Given the description of an element on the screen output the (x, y) to click on. 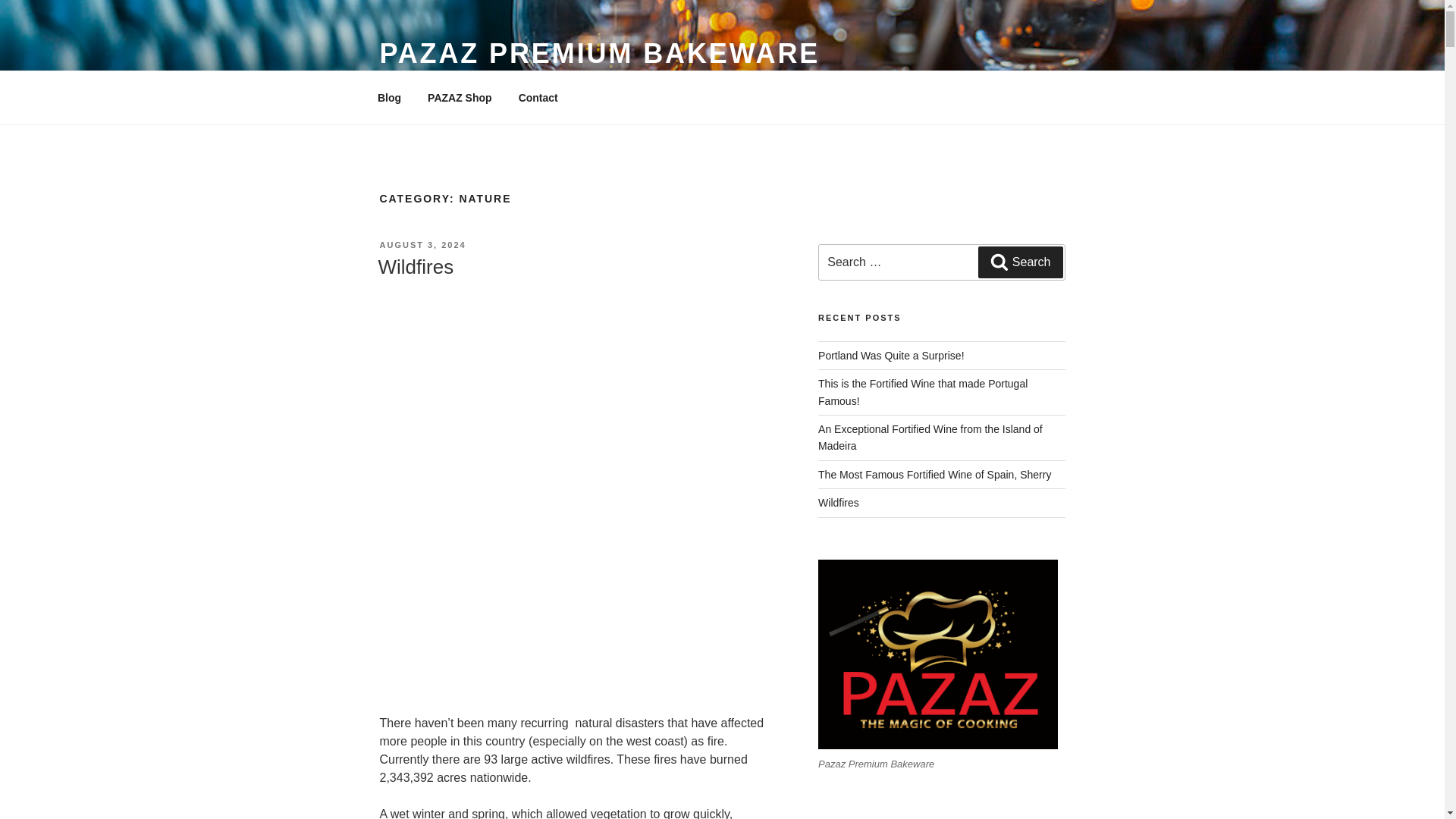
An Exceptional Fortified Wine from the Island of Madeira (930, 437)
PAZAZ Shop (459, 97)
Wildfires (414, 266)
PAZAZ PREMIUM BAKEWARE (598, 52)
Contact (537, 97)
Search (1020, 262)
Blog (388, 97)
Portland Was Quite a Surprise! (890, 355)
Wildfires (838, 502)
